Given the description of an element on the screen output the (x, y) to click on. 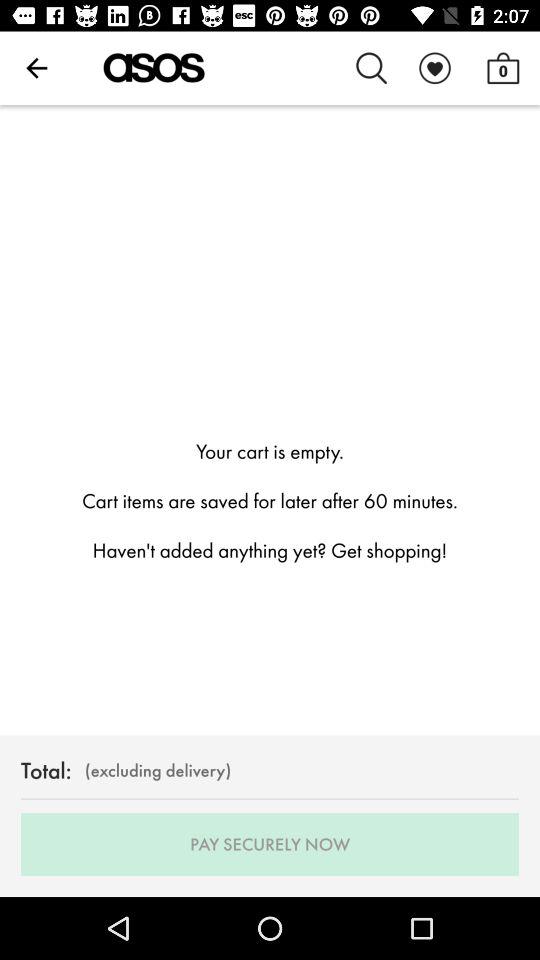
click the pay securely now item (270, 844)
